Given the description of an element on the screen output the (x, y) to click on. 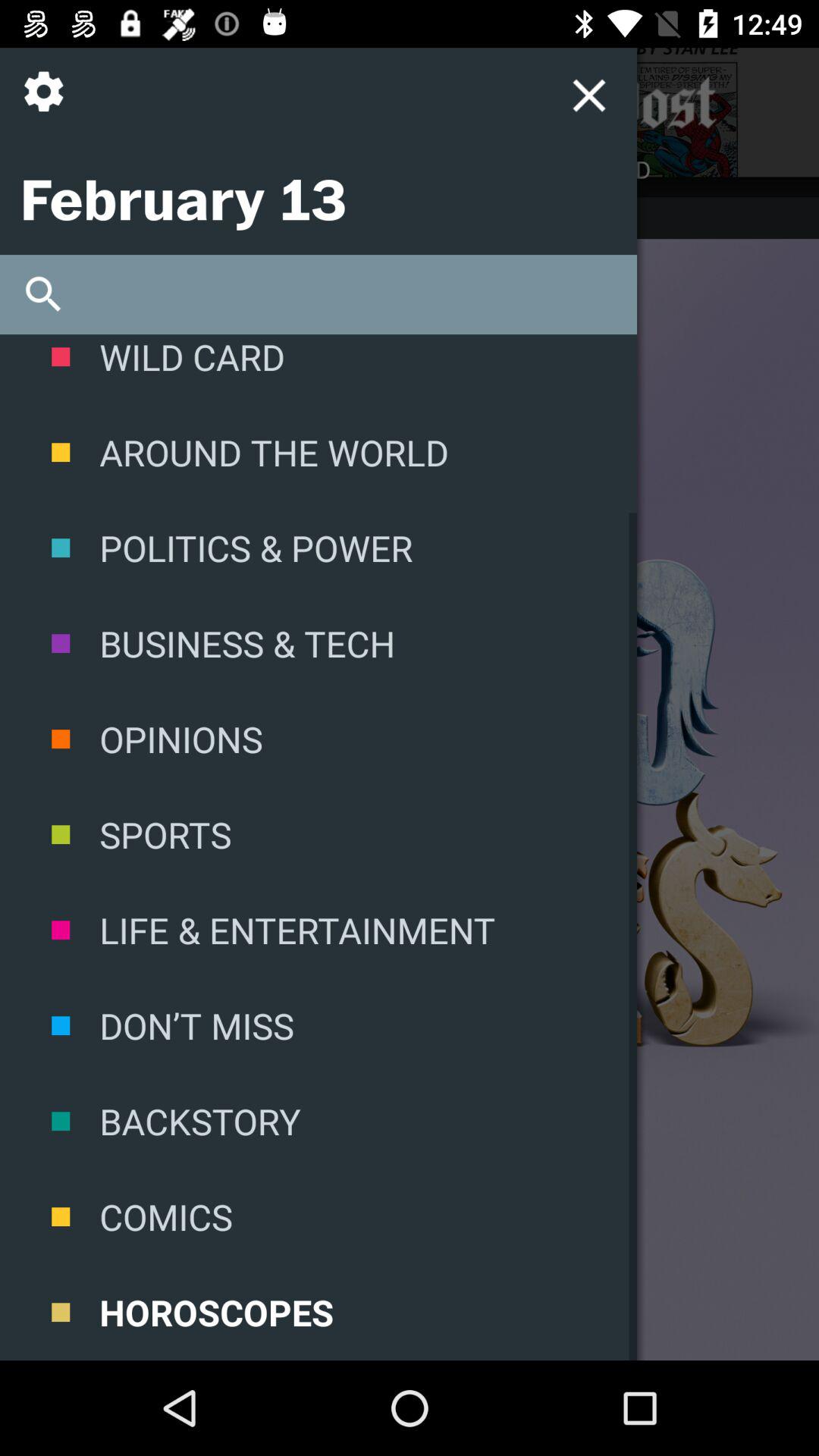
press app below sports item (318, 930)
